Given the description of an element on the screen output the (x, y) to click on. 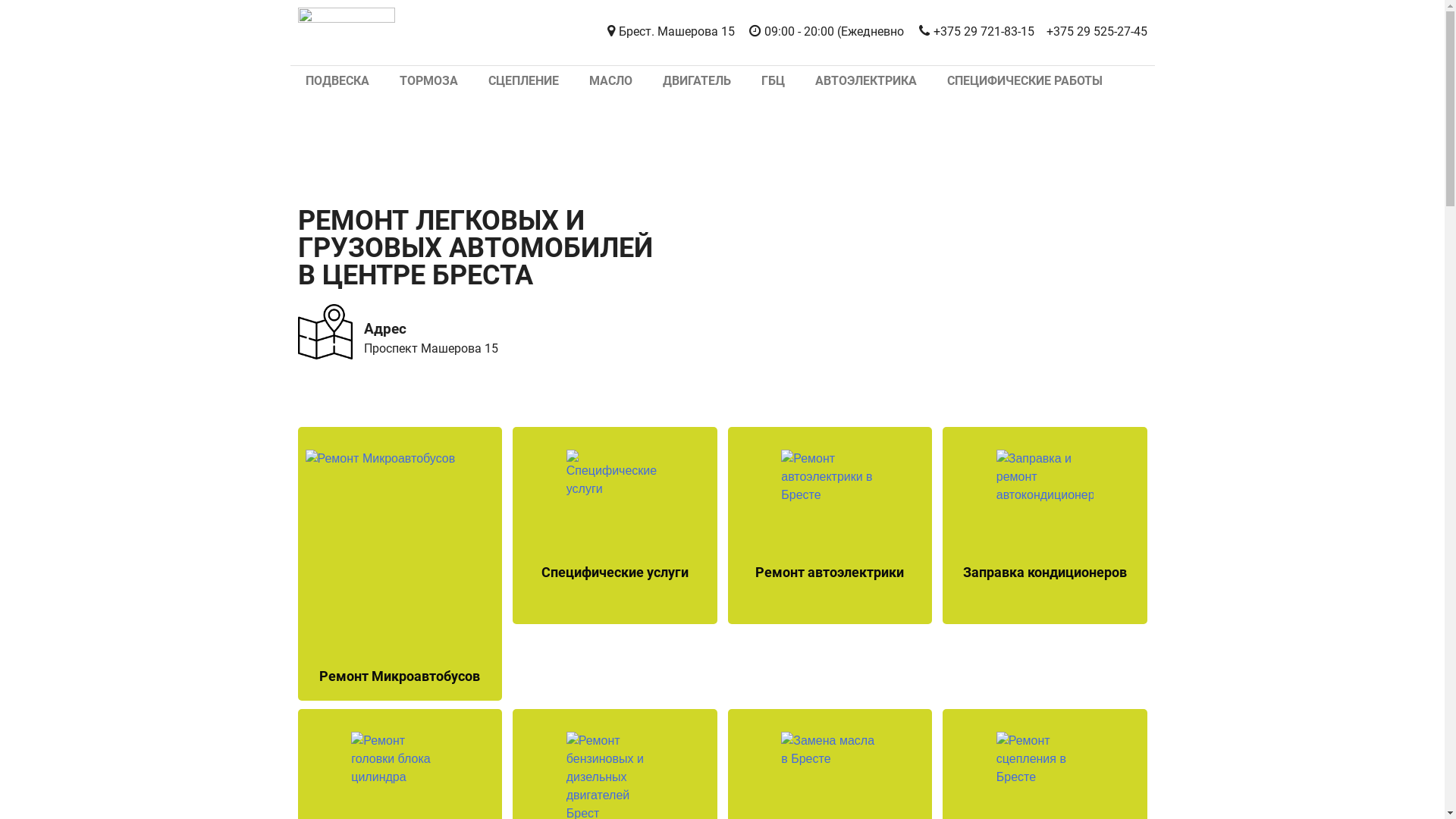
+375 29 721-83-15 Element type: text (975, 31)
+375 29 525-27-45 Element type: text (1096, 31)
